Given the description of an element on the screen output the (x, y) to click on. 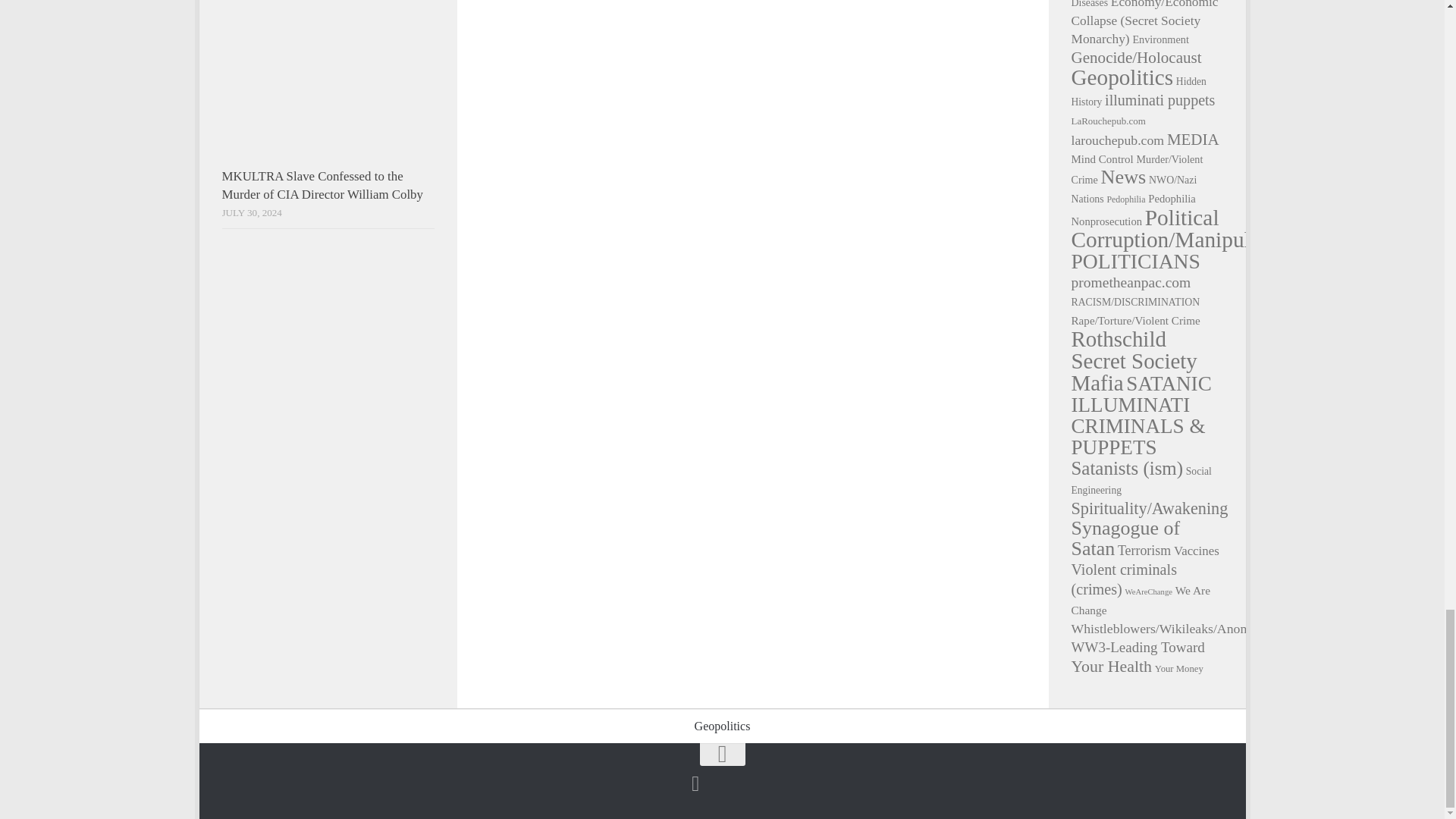
Get the book on Amazon (695, 783)
